Given the description of an element on the screen output the (x, y) to click on. 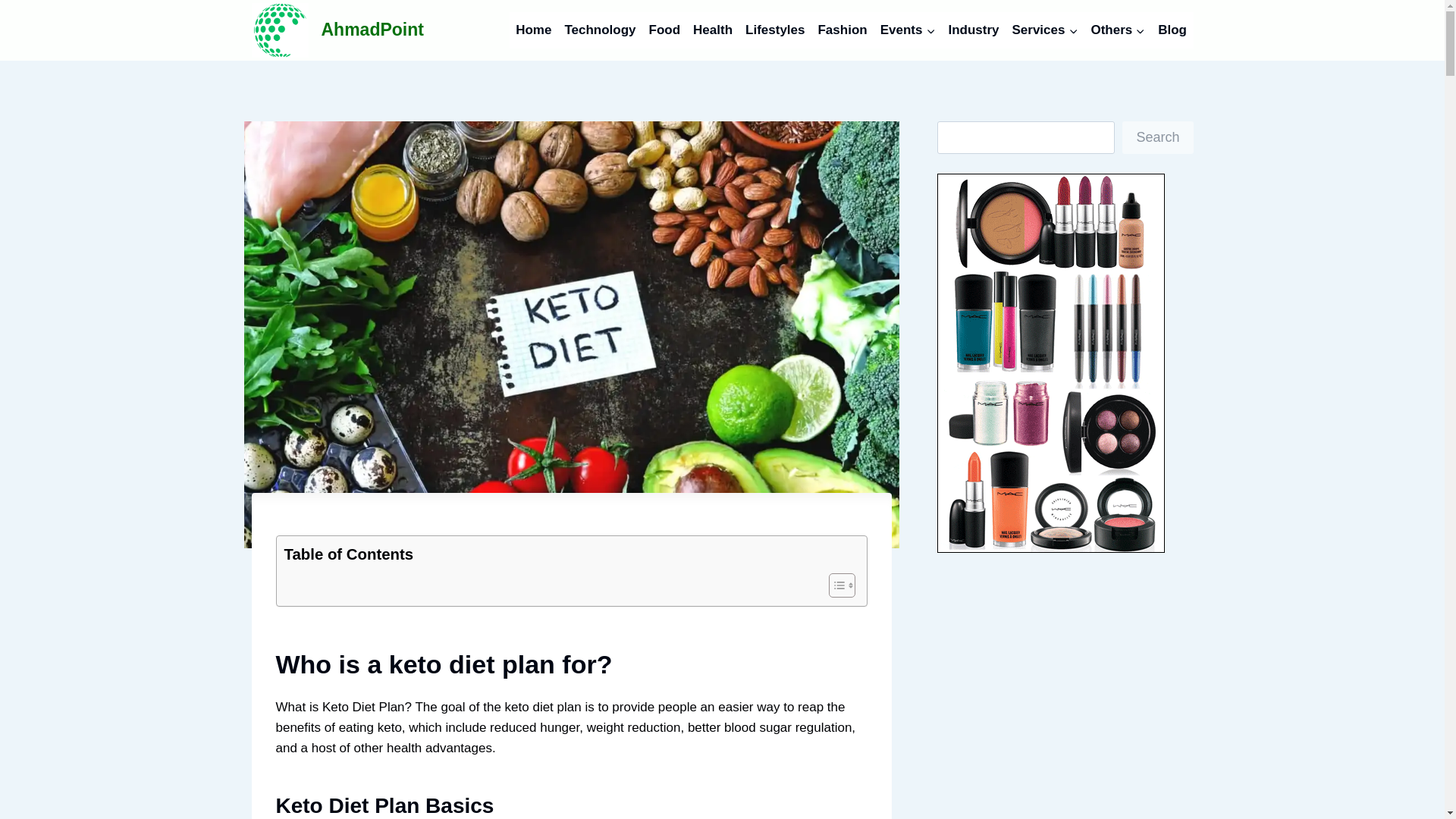
Others (1117, 30)
Technology (599, 30)
Home (533, 30)
Lifestyles (774, 30)
Fashion (841, 30)
AhmadPoint (337, 30)
Health (713, 30)
Blog (1172, 30)
Services (1045, 30)
Industry (974, 30)
Food (664, 30)
Events (907, 30)
